Given the description of an element on the screen output the (x, y) to click on. 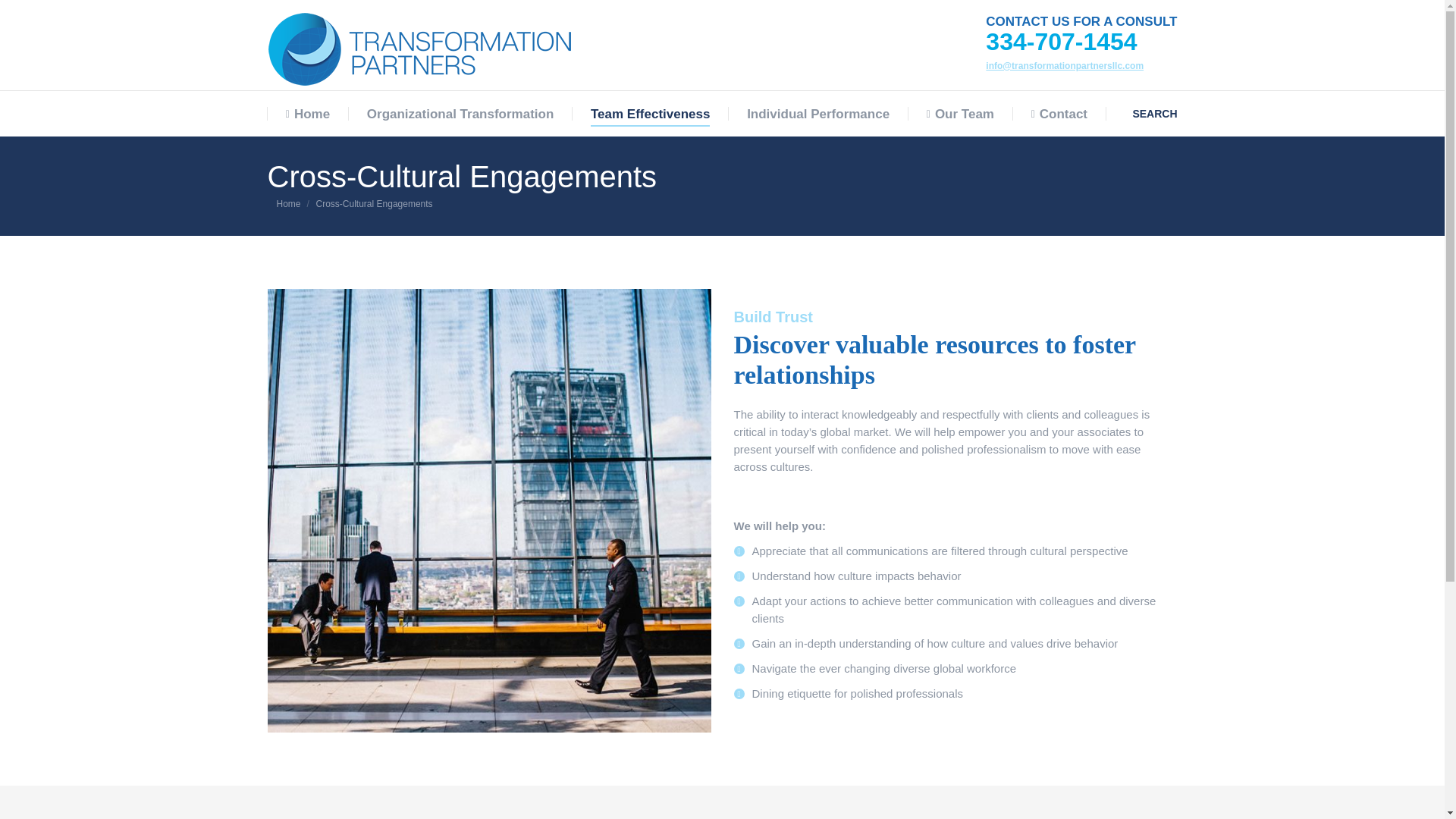
Contact (1058, 114)
Our Team (960, 114)
Home (307, 114)
Individual Performance (817, 114)
SEARCH (1152, 112)
Team Effectiveness (650, 114)
Organizational Transformation (460, 114)
Go! (24, 14)
